Given the description of an element on the screen output the (x, y) to click on. 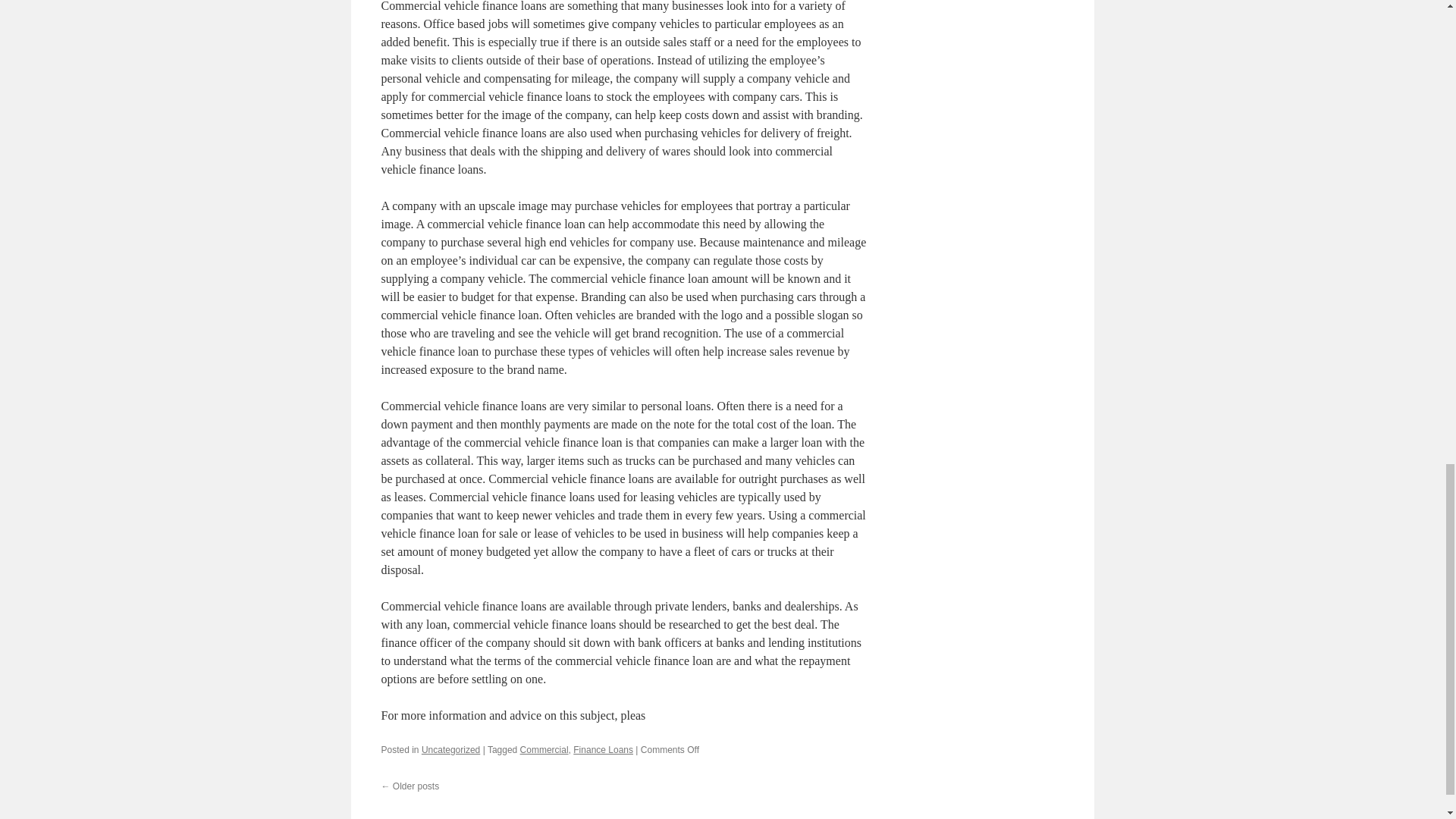
Uncategorized (451, 749)
Commercial (544, 749)
Finance Loans (603, 749)
View all posts in Uncategorized (451, 749)
